Given the description of an element on the screen output the (x, y) to click on. 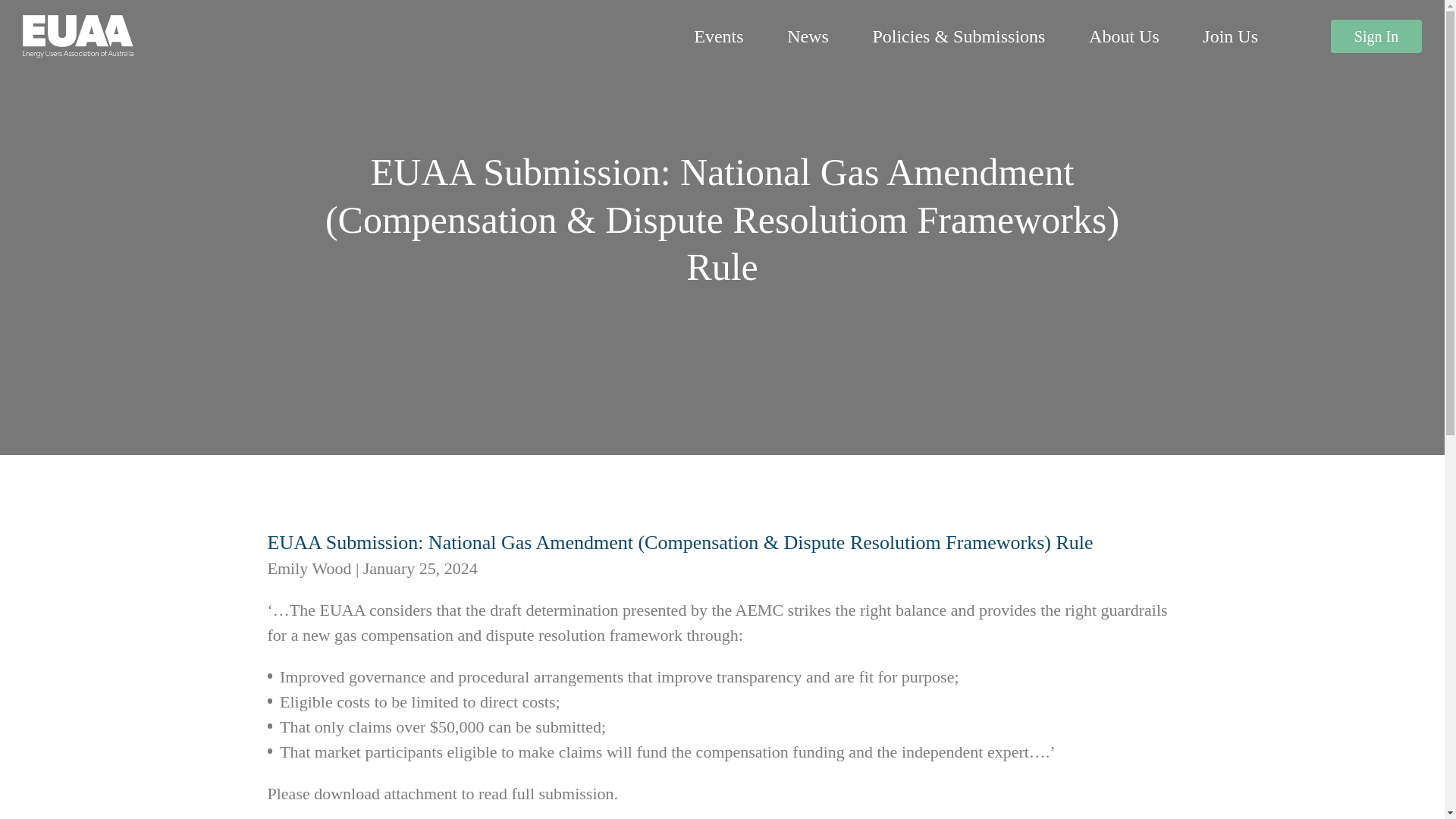
Sign In (858, 509)
About Us (1123, 36)
Events (718, 36)
Sign In (1376, 36)
News (807, 36)
Join Us (1229, 36)
